Given the description of an element on the screen output the (x, y) to click on. 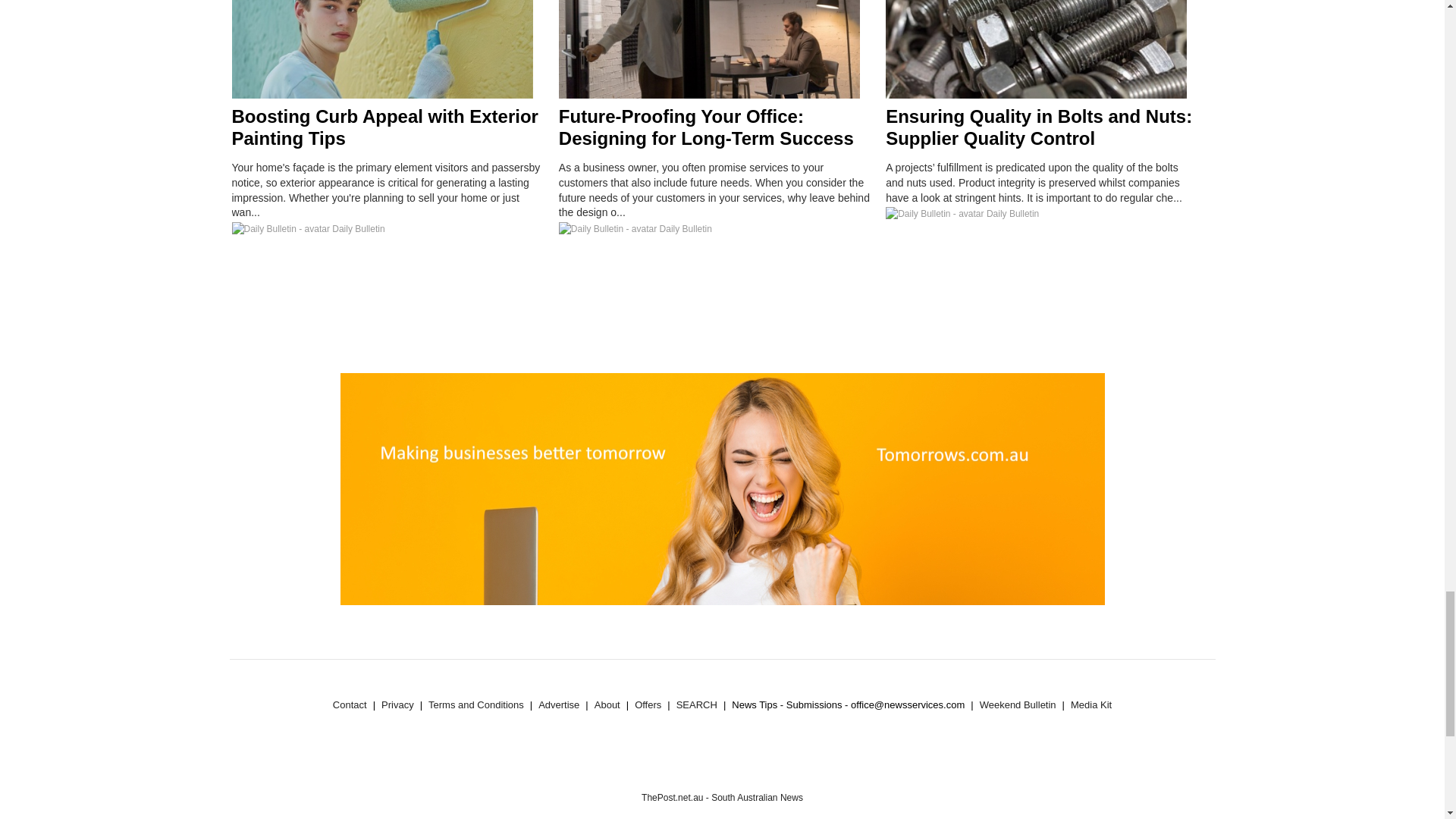
Boosting Curb Appeal with Exterior Painting Tips (384, 127)
Future-Proofing Your Office: Designing for Long-Term Success (706, 127)
Ensuring Quality in Bolts and Nuts: Supplier Quality Control (1038, 127)
